Given the description of an element on the screen output the (x, y) to click on. 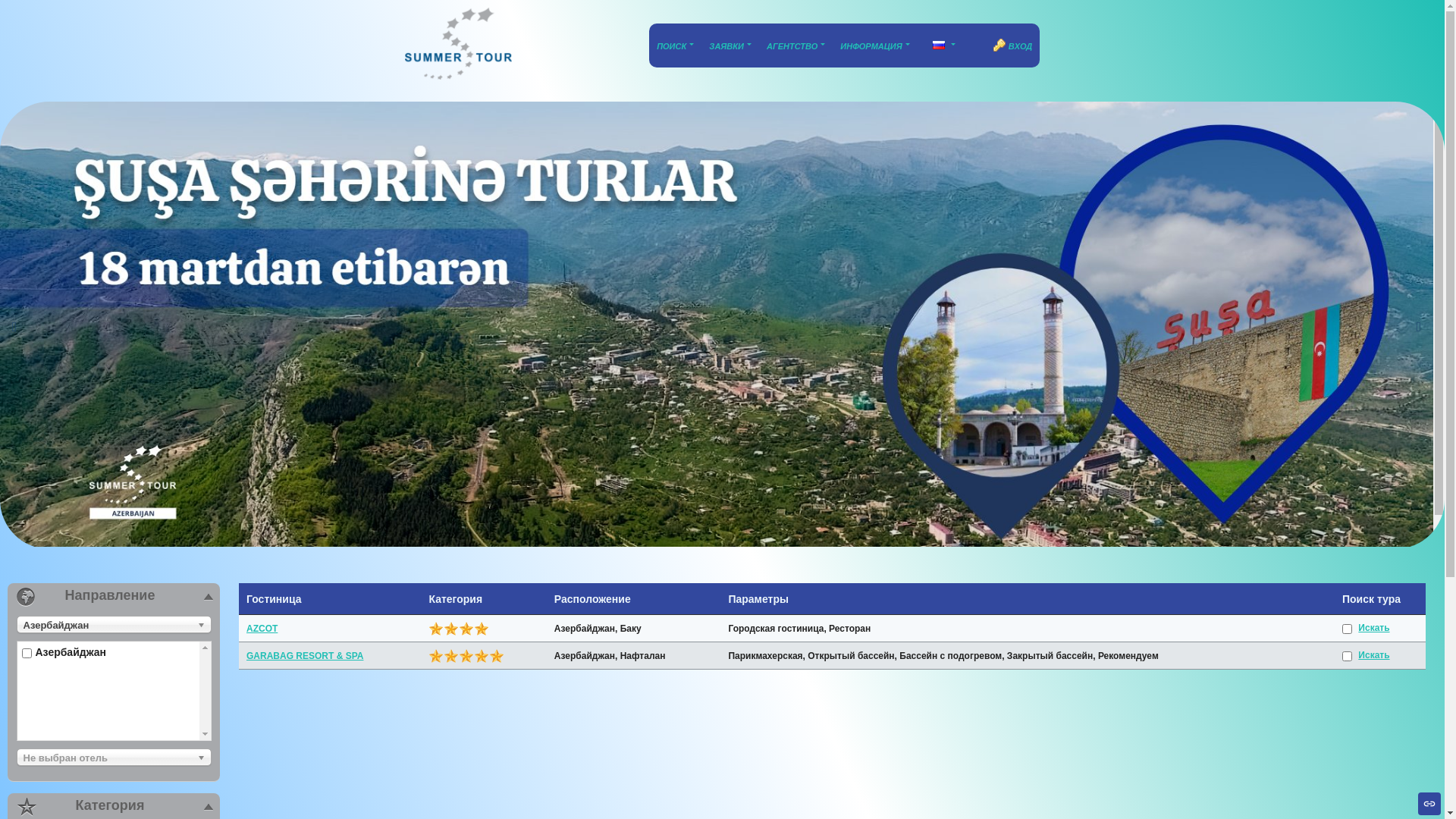
GARABAG RESORT & SPA Element type: text (304, 655)
AZCOT Element type: text (261, 628)
